Given the description of an element on the screen output the (x, y) to click on. 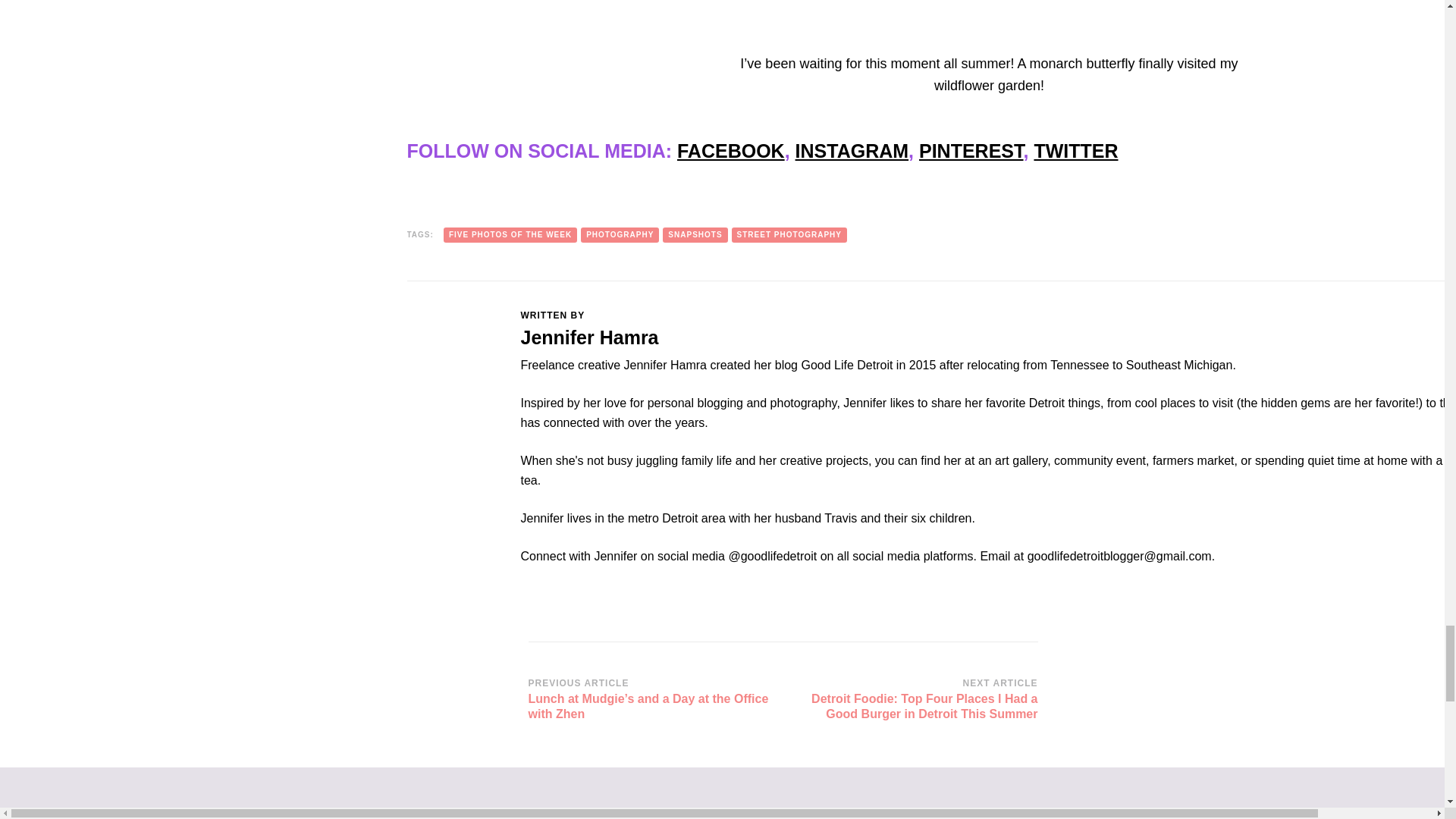
FACEBOOK (730, 150)
INSTAGRAM (851, 150)
